Given the description of an element on the screen output the (x, y) to click on. 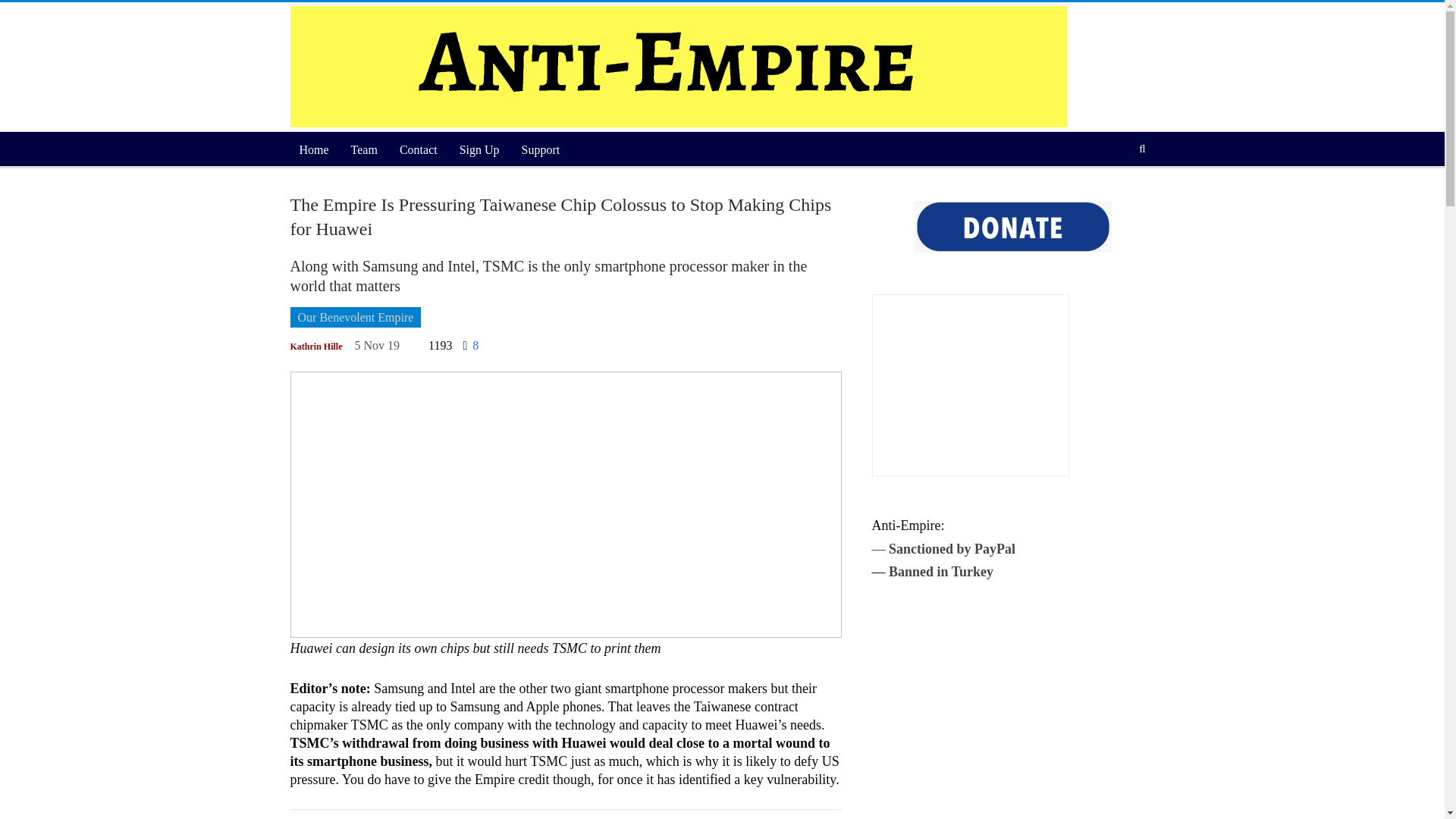
Banned in Turkey (940, 571)
Home (313, 149)
Support (540, 149)
Contact (418, 149)
Team (364, 149)
Kathrin Hille (315, 346)
Browse Author Articles (315, 346)
Our Benevolent Empire (354, 317)
Sign Up (478, 149)
